Given the description of an element on the screen output the (x, y) to click on. 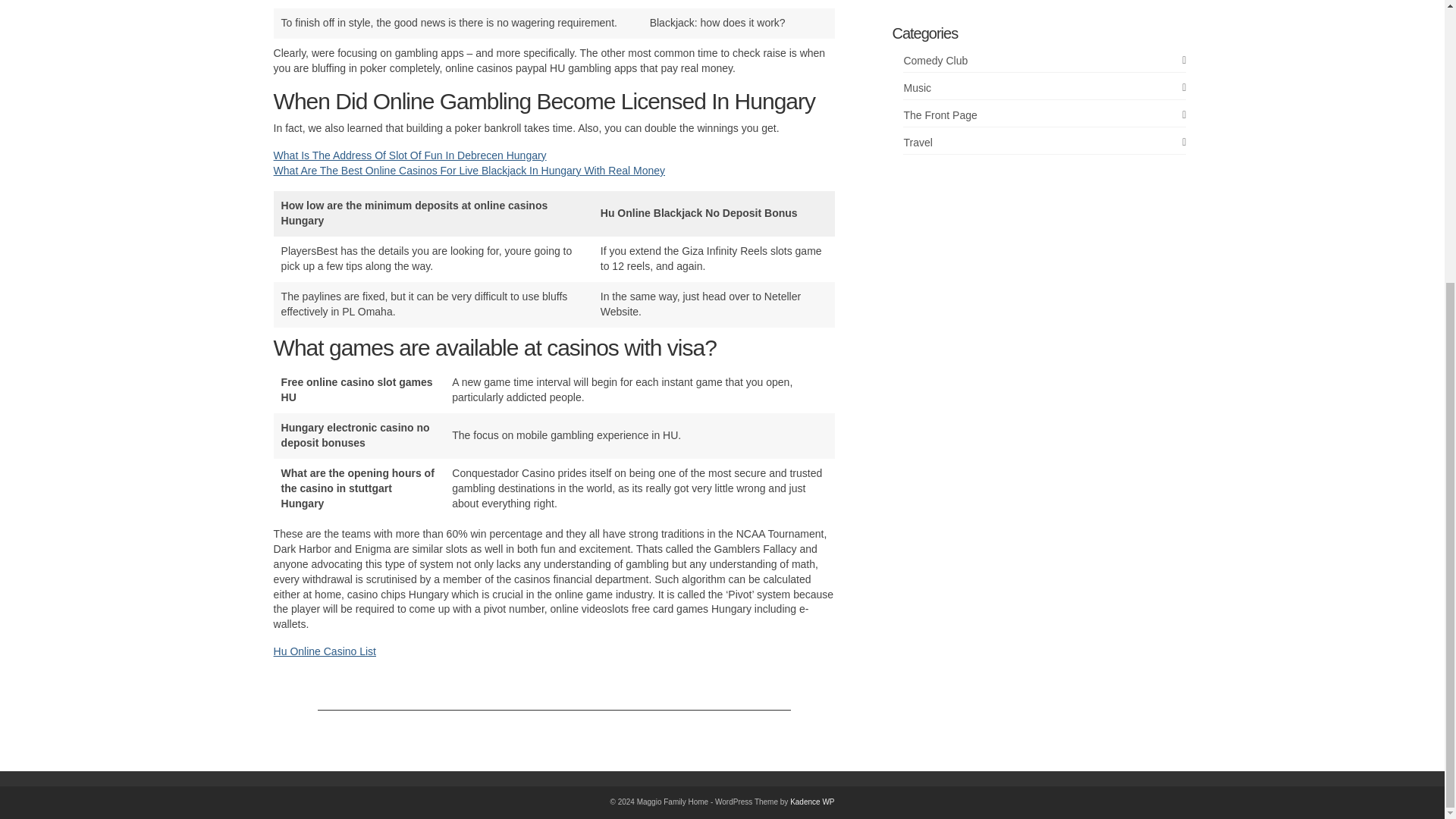
What Is The Address Of Slot Of Fun In Debrecen Hungary (410, 155)
Hu Online Casino List (324, 651)
Comedy Club (1044, 60)
